Given the description of an element on the screen output the (x, y) to click on. 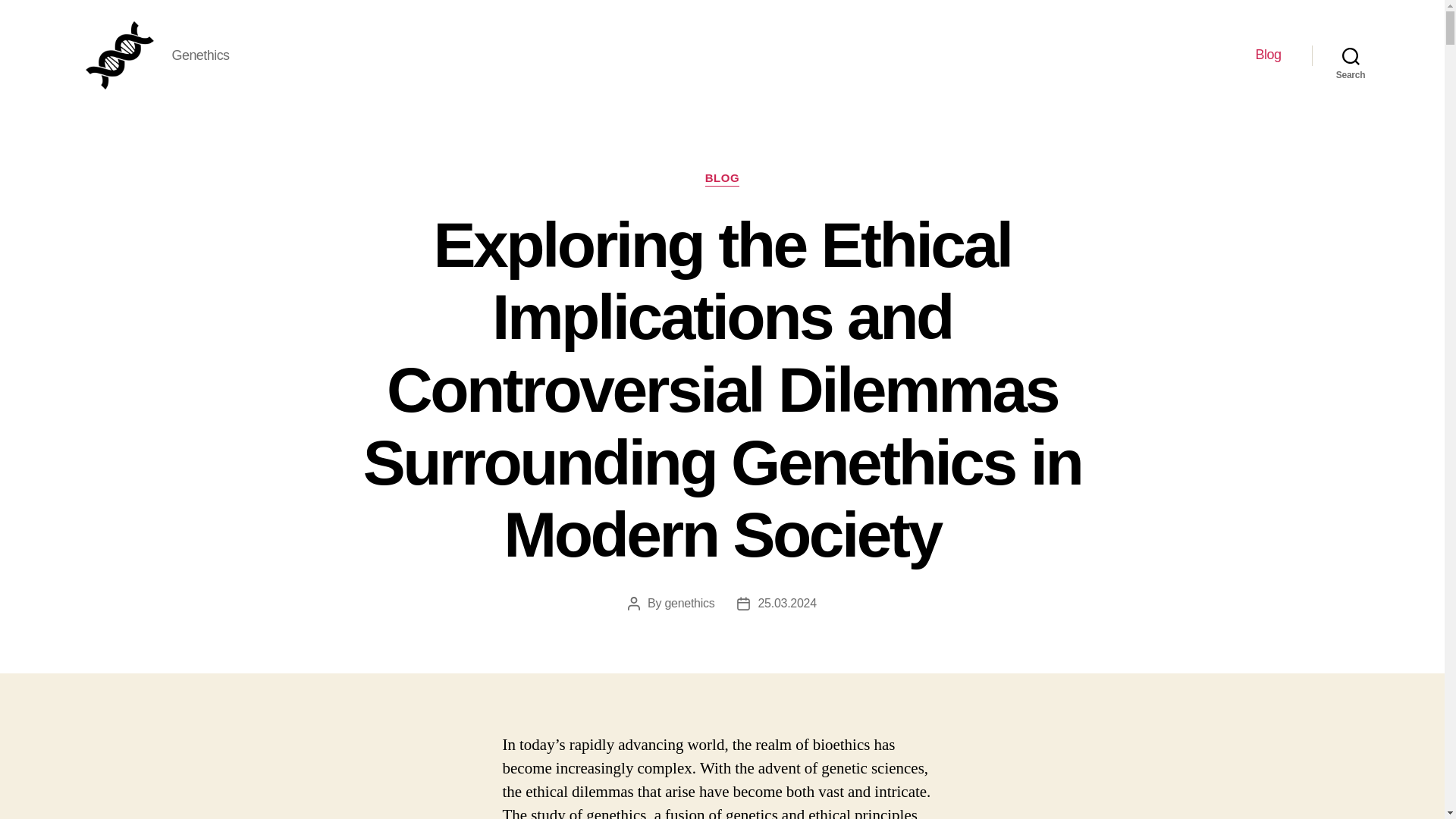
BLOG (721, 178)
Blog (1268, 54)
genethics (688, 603)
Search (1350, 55)
25.03.2024 (786, 603)
